Given the description of an element on the screen output the (x, y) to click on. 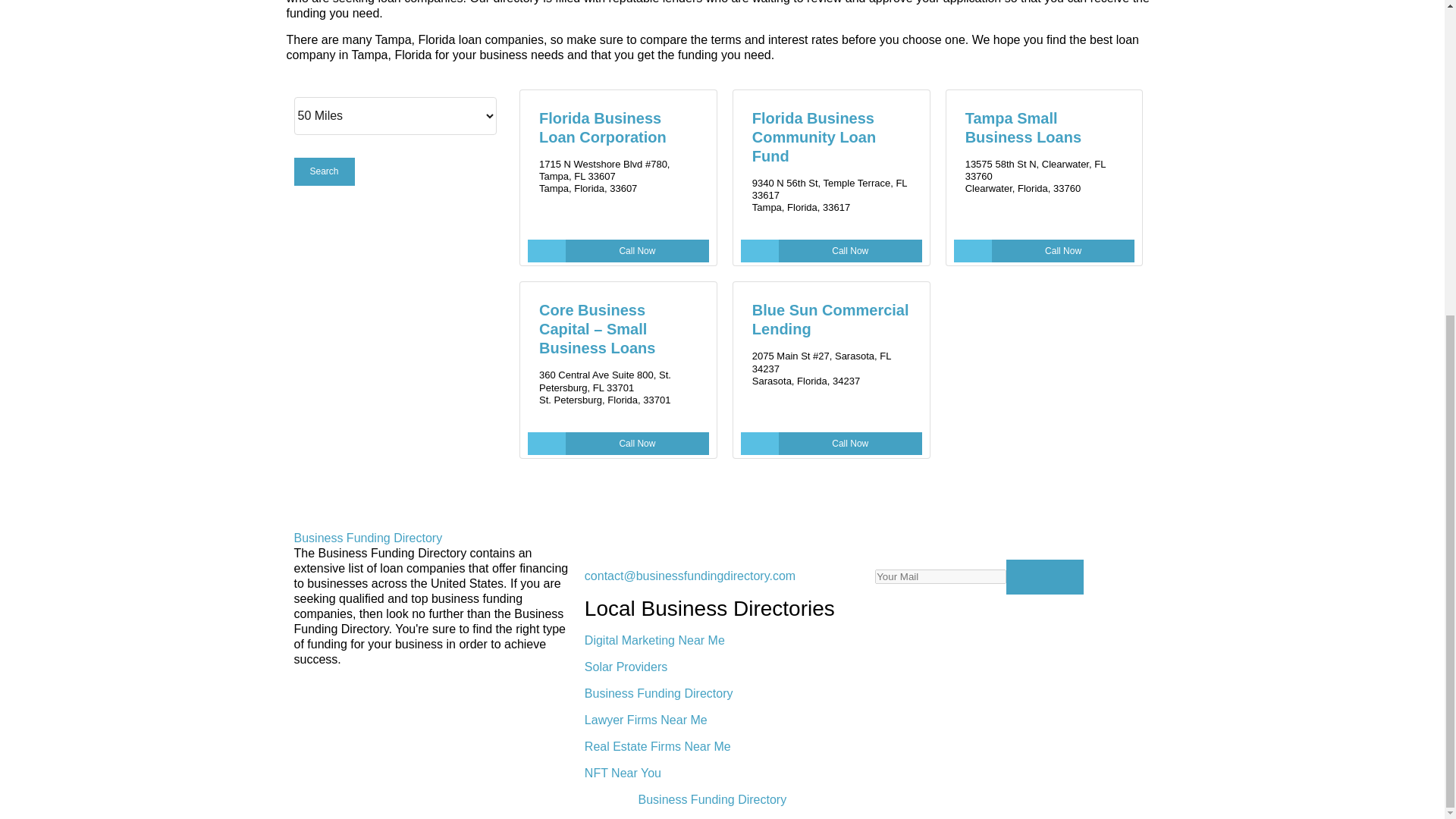
Florida Business Loan Corporation (602, 126)
Digital Marketing Near Me (655, 640)
Call Now (618, 250)
Tampa Small Business Loans (1023, 126)
Lawyer Firms Near Me (646, 719)
Call Now (831, 250)
Call Now (831, 443)
Call Now (618, 443)
Business Funding Directory (368, 537)
Search (324, 171)
